Given the description of an element on the screen output the (x, y) to click on. 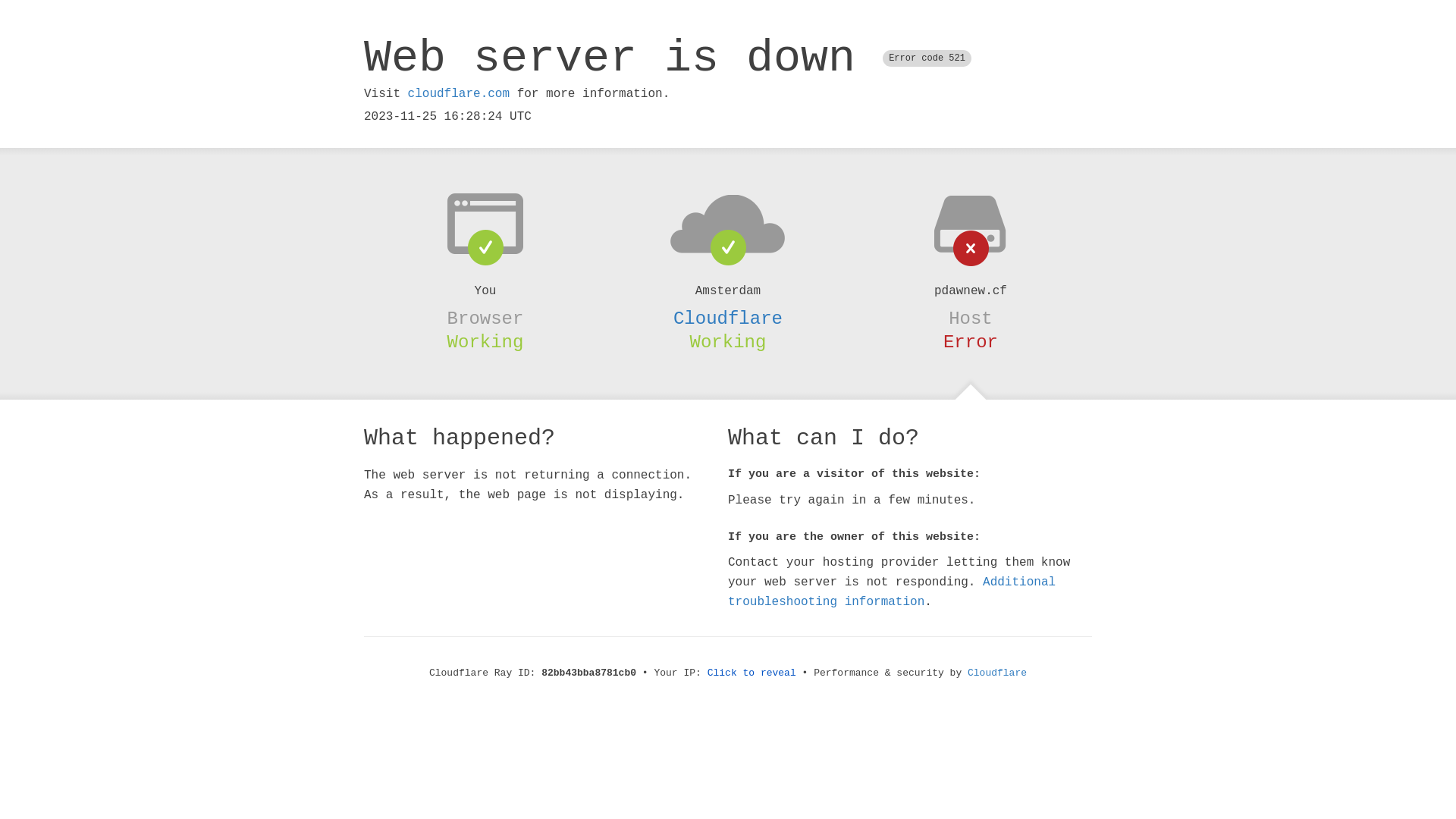
cloudflare.com Element type: text (458, 93)
Cloudflare Element type: text (727, 318)
Cloudflare Element type: text (996, 672)
Additional troubleshooting information Element type: text (891, 591)
Click to reveal Element type: text (751, 672)
